Given the description of an element on the screen output the (x, y) to click on. 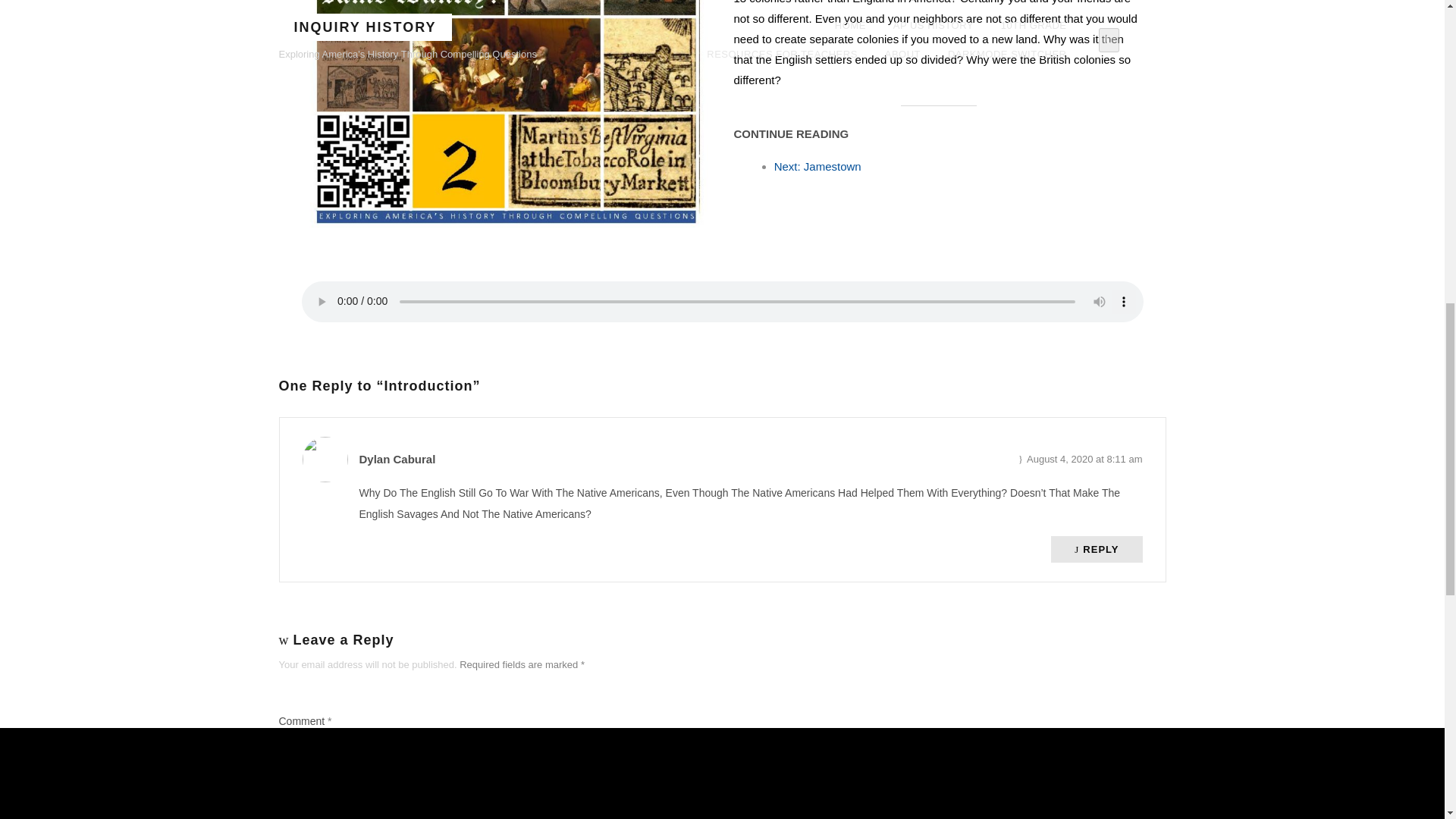
REPLY (1096, 549)
August 4, 2020 at 8:11 am (1079, 459)
Next: Jamestown (817, 165)
